Given the description of an element on the screen output the (x, y) to click on. 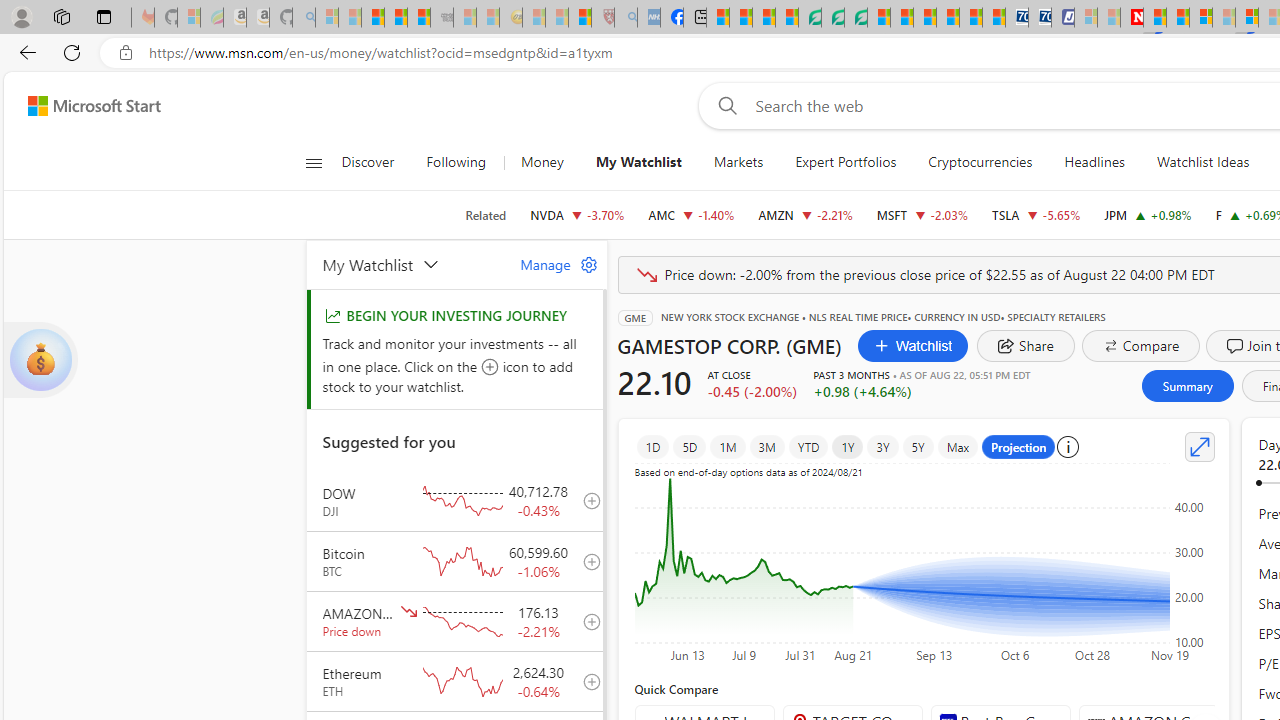
Microsoft Word - consumer-privacy address update 2.2021 (855, 17)
Watchlist Ideas (1202, 162)
NVDA NVIDIA CORPORATION decrease 123.74 -4.76 -3.70% (577, 214)
New Report Confirms 2023 Was Record Hot | Watch (419, 17)
My Watchlist (638, 162)
Cryptocurrencies (980, 162)
